Given the description of an element on the screen output the (x, y) to click on. 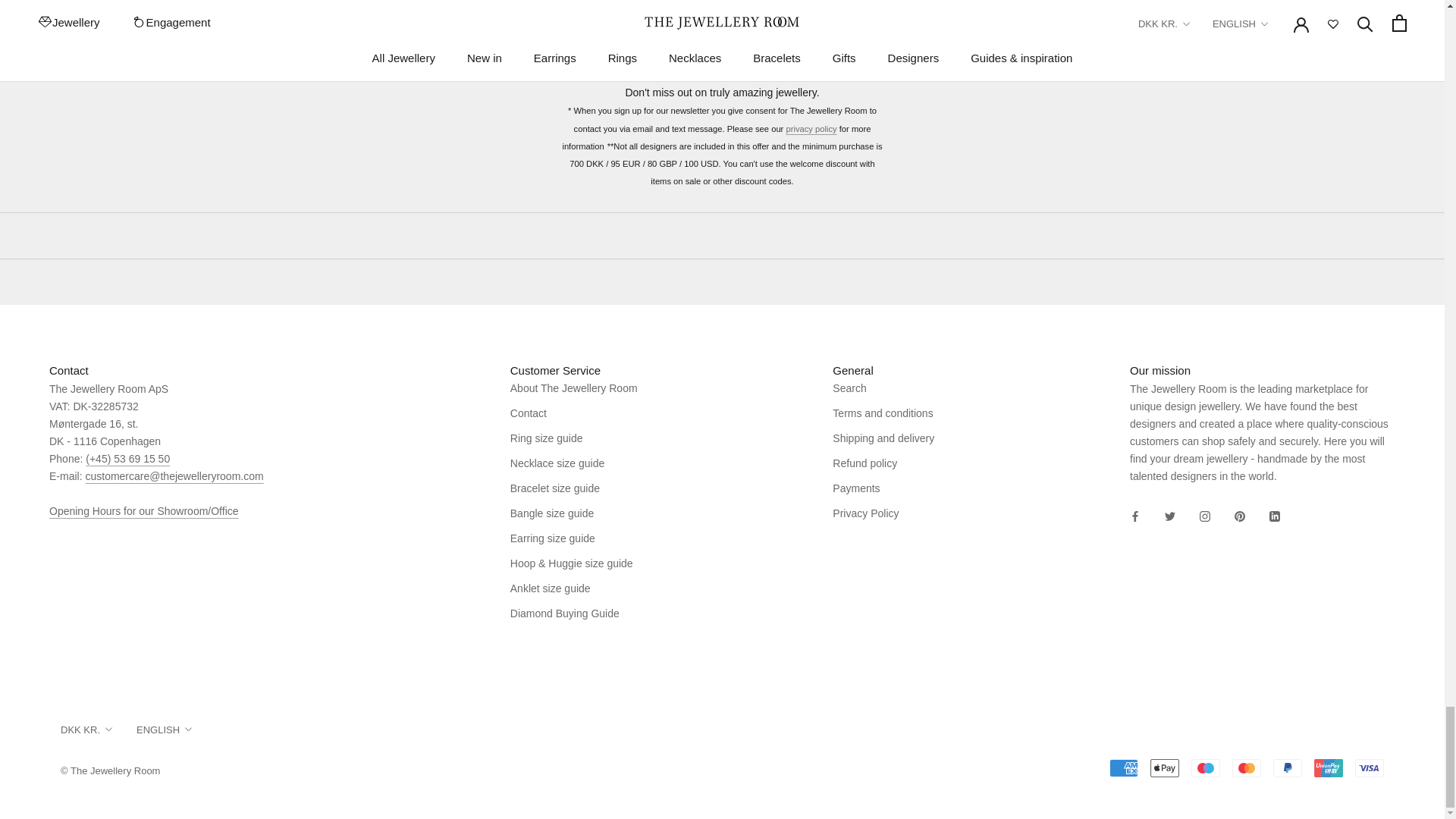
American Express (1123, 768)
Maestro (1205, 768)
Apple Pay (1164, 768)
